Given the description of an element on the screen output the (x, y) to click on. 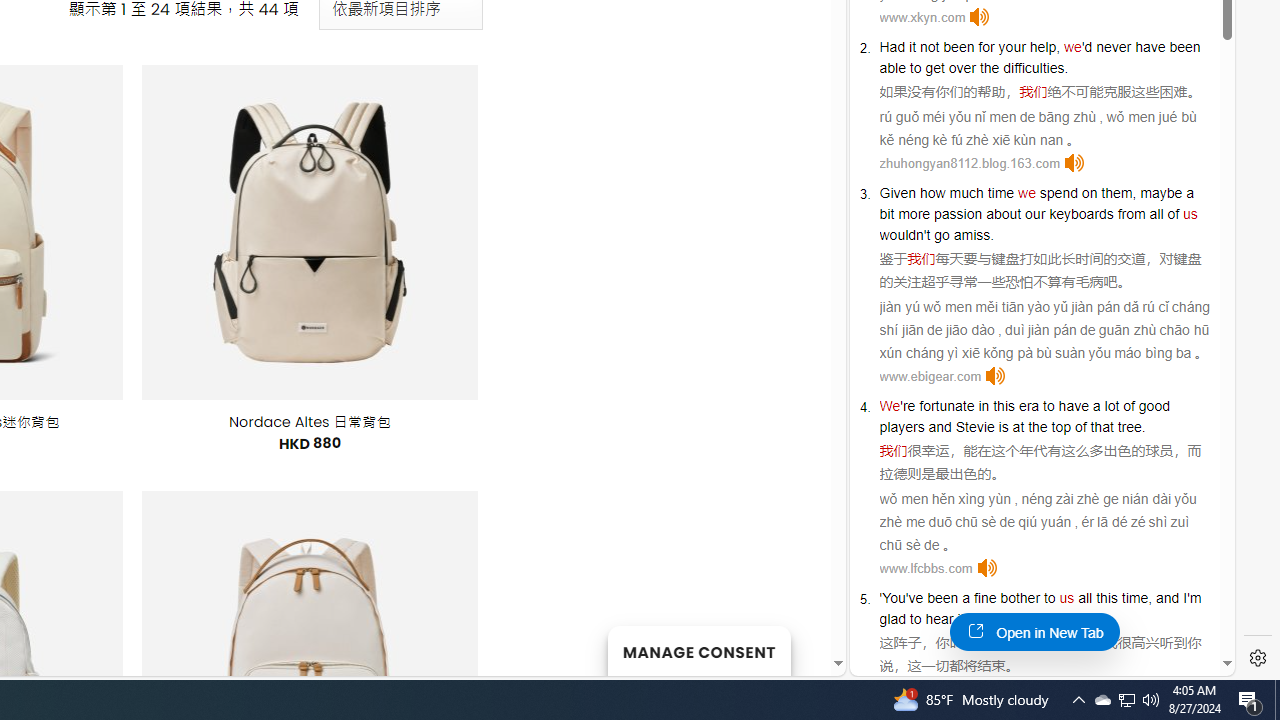
of (1173, 213)
stop (1044, 619)
www.ebigear.com (930, 375)
and (940, 426)
us (1066, 597)
